Given the description of an element on the screen output the (x, y) to click on. 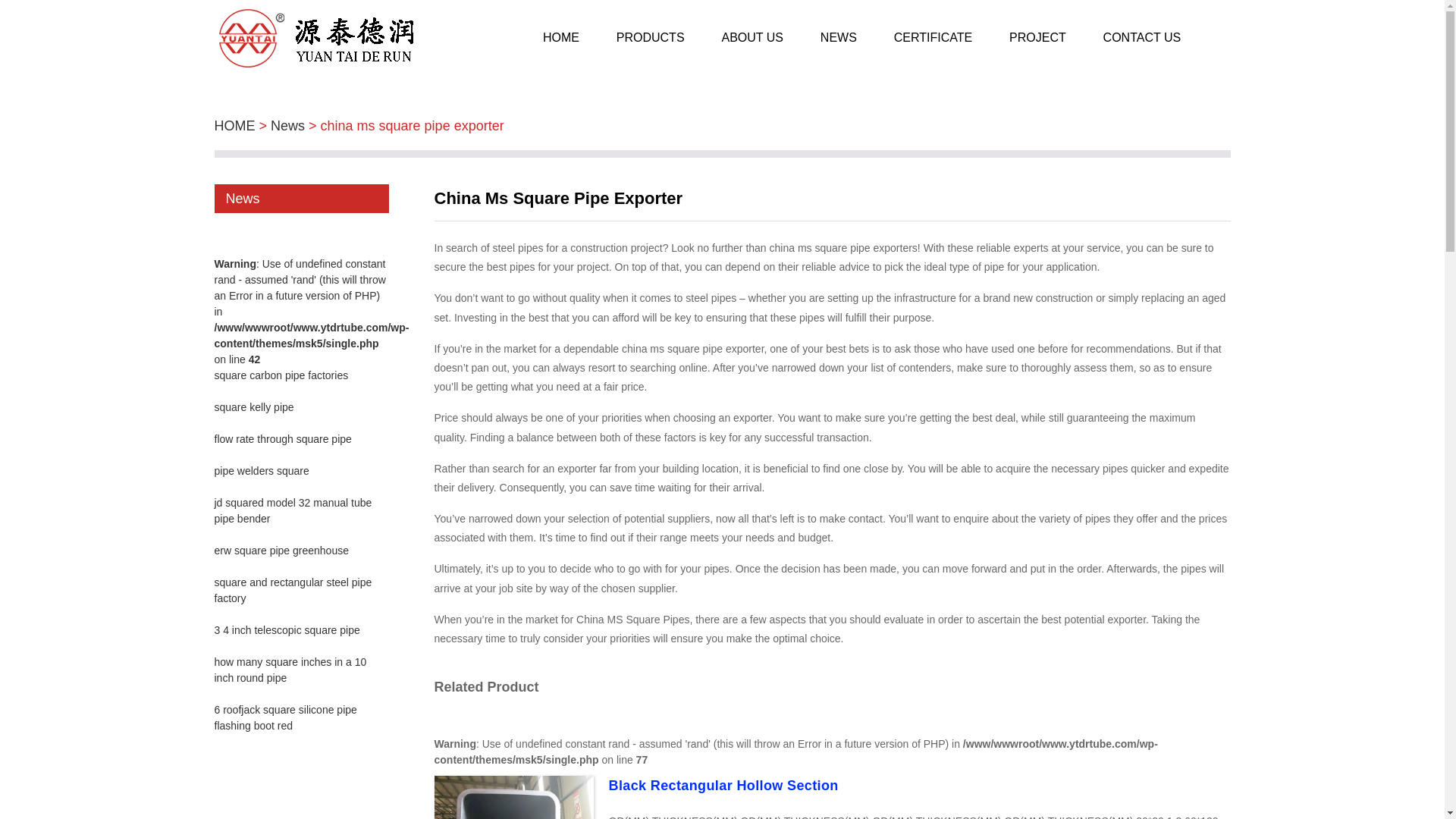
3 4 inch telescopic square pipe (286, 630)
News (287, 125)
flow rate through square pipe (282, 439)
6 roofjack square silicone pipe flashing boot red (285, 717)
square and rectangular steel pipe factory (292, 590)
PROJECT (1037, 37)
erw square pipe greenhouse (280, 550)
erw square pipe greenhouse (280, 550)
PRODUCTS (649, 37)
square and rectangular steel pipe factory (292, 590)
pipe welders square (261, 470)
square carbon pipe factories (280, 375)
how many square inches in a 10 inch round pipe (290, 669)
jd squared model 32 manual tube pipe bender (292, 510)
Black Rectangular Hollow Section (723, 785)
